Given the description of an element on the screen output the (x, y) to click on. 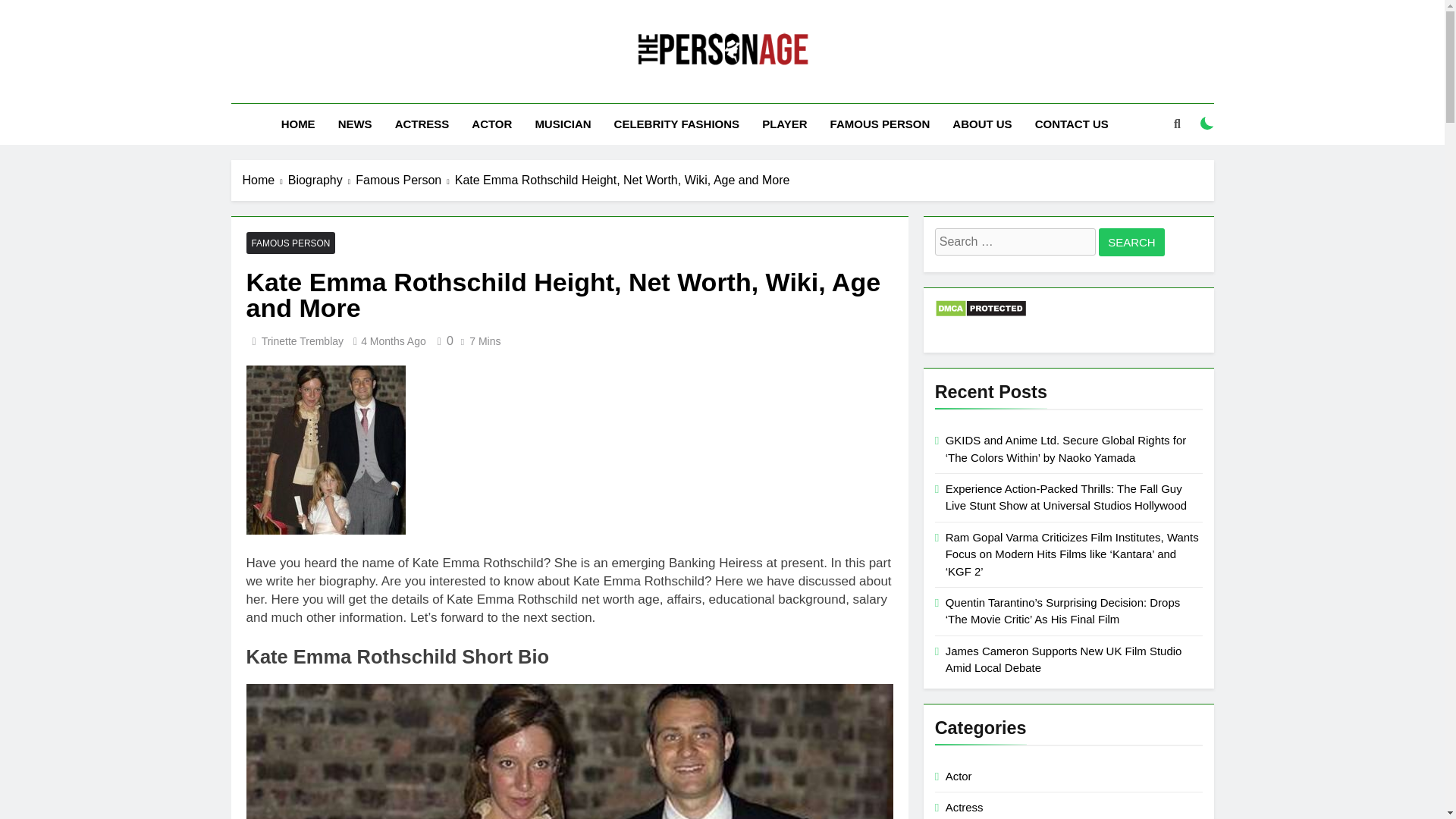
The Personage (587, 89)
ACTOR (491, 124)
CONTACT US (1071, 124)
Famous Person (404, 180)
CELEBRITY FASHIONS (676, 124)
MUSICIAN (562, 124)
FAMOUS PERSON (880, 124)
FAMOUS PERSON (290, 242)
0 (442, 340)
4 Months Ago (393, 340)
ACTRESS (422, 124)
Biography (322, 180)
DMCA.com Protection Status (980, 313)
HOME (297, 124)
ABOUT US (981, 124)
